Given the description of an element on the screen output the (x, y) to click on. 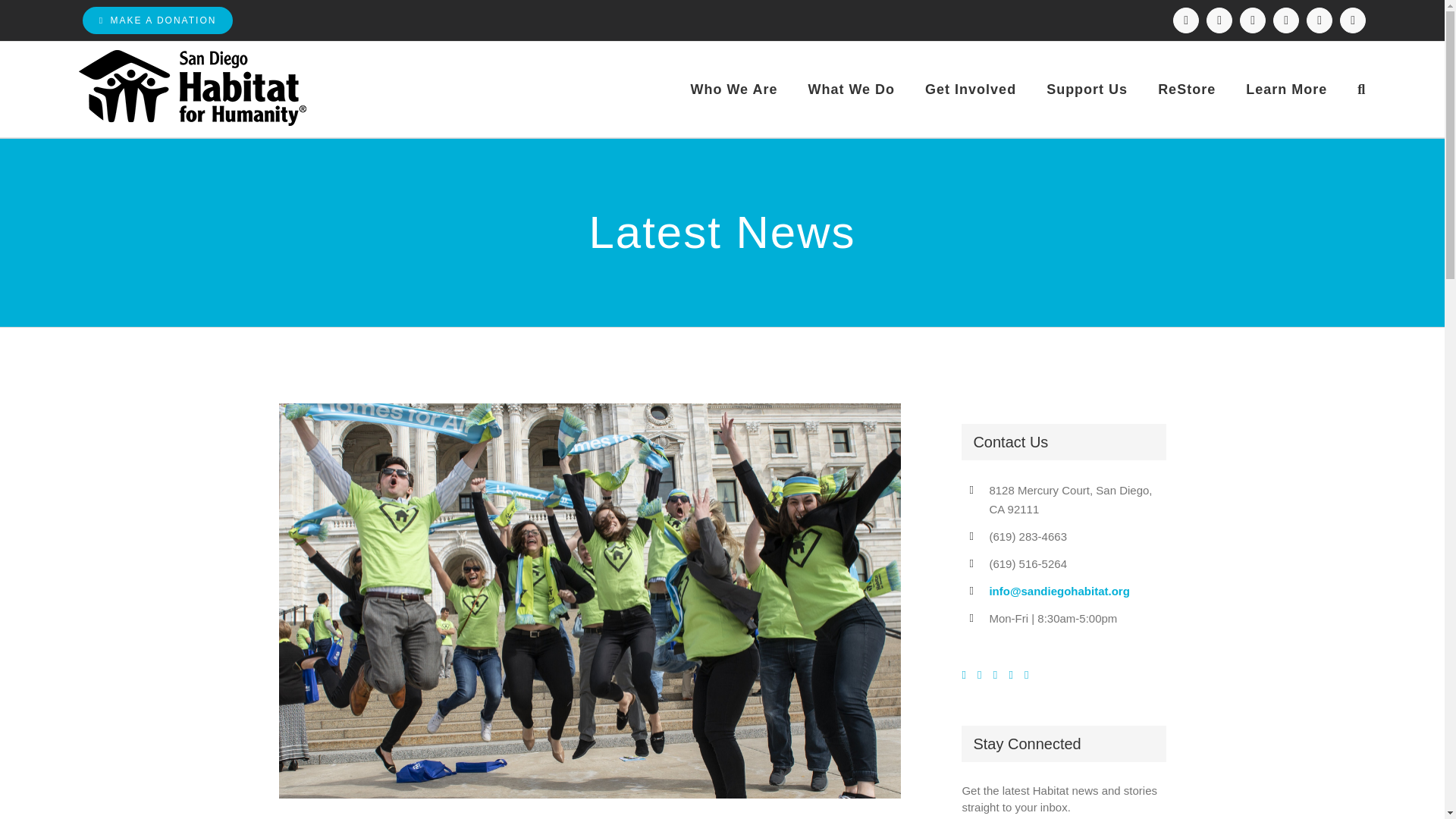
Instagram (1219, 20)
MAKE A DONATION (157, 20)
YouTube (1319, 20)
Facebook (1185, 20)
LinkedIn (1285, 20)
LinkedIn (1285, 20)
Who We Are (733, 89)
Email (1352, 20)
What We Do (851, 89)
Get Involved (970, 89)
Facebook (1185, 20)
YouTube (1319, 20)
X (1252, 20)
Email (1352, 20)
X (1252, 20)
